Given the description of an element on the screen output the (x, y) to click on. 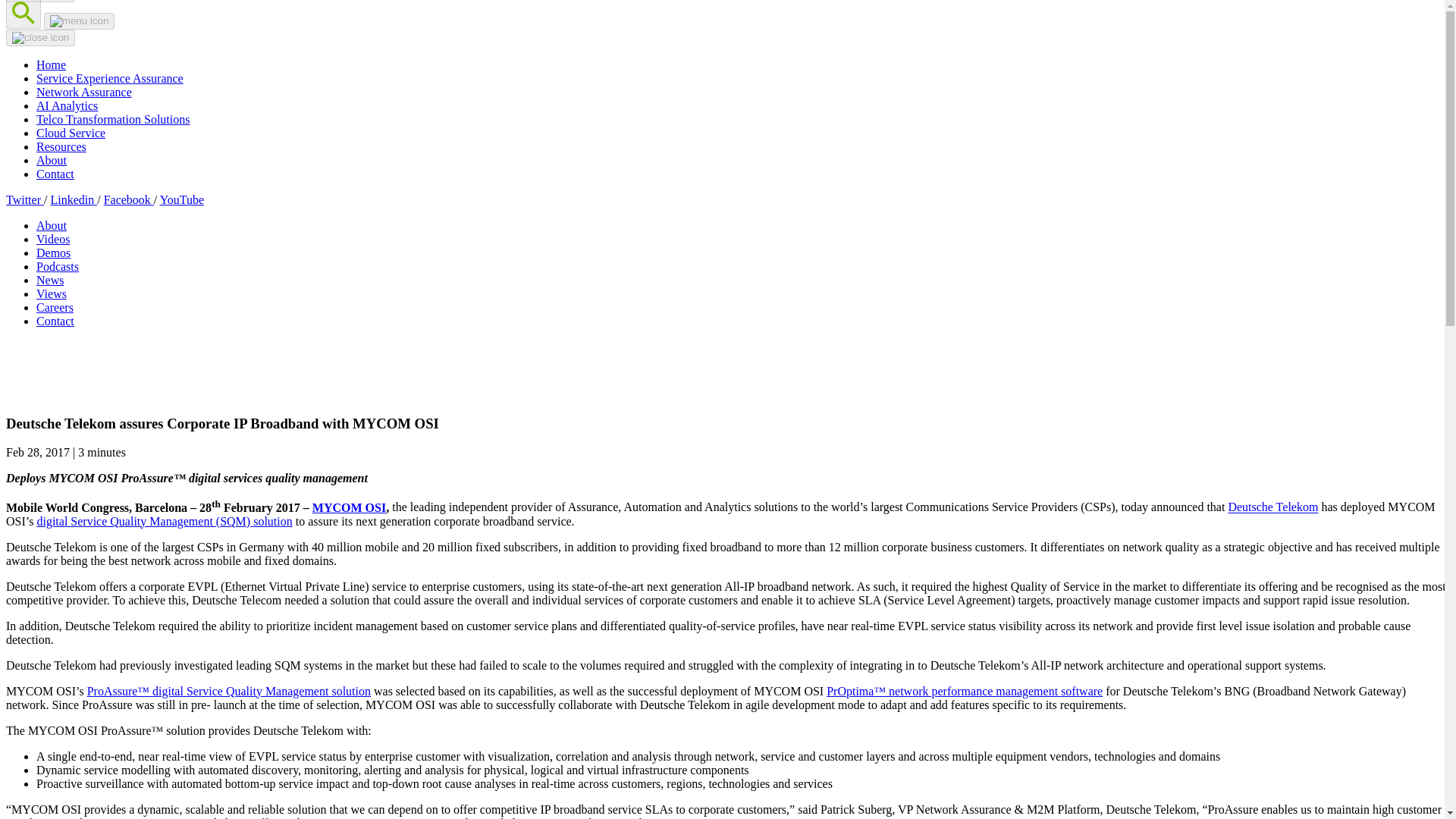
MYCOM OSI (349, 507)
Resources (60, 146)
Network Assurance (84, 91)
Podcasts (57, 266)
Resources (60, 146)
Demos (52, 252)
Cloud Service (70, 132)
Cloud Service (70, 132)
Telco Transformation Solutions (112, 119)
Contact (55, 320)
